Given the description of an element on the screen output the (x, y) to click on. 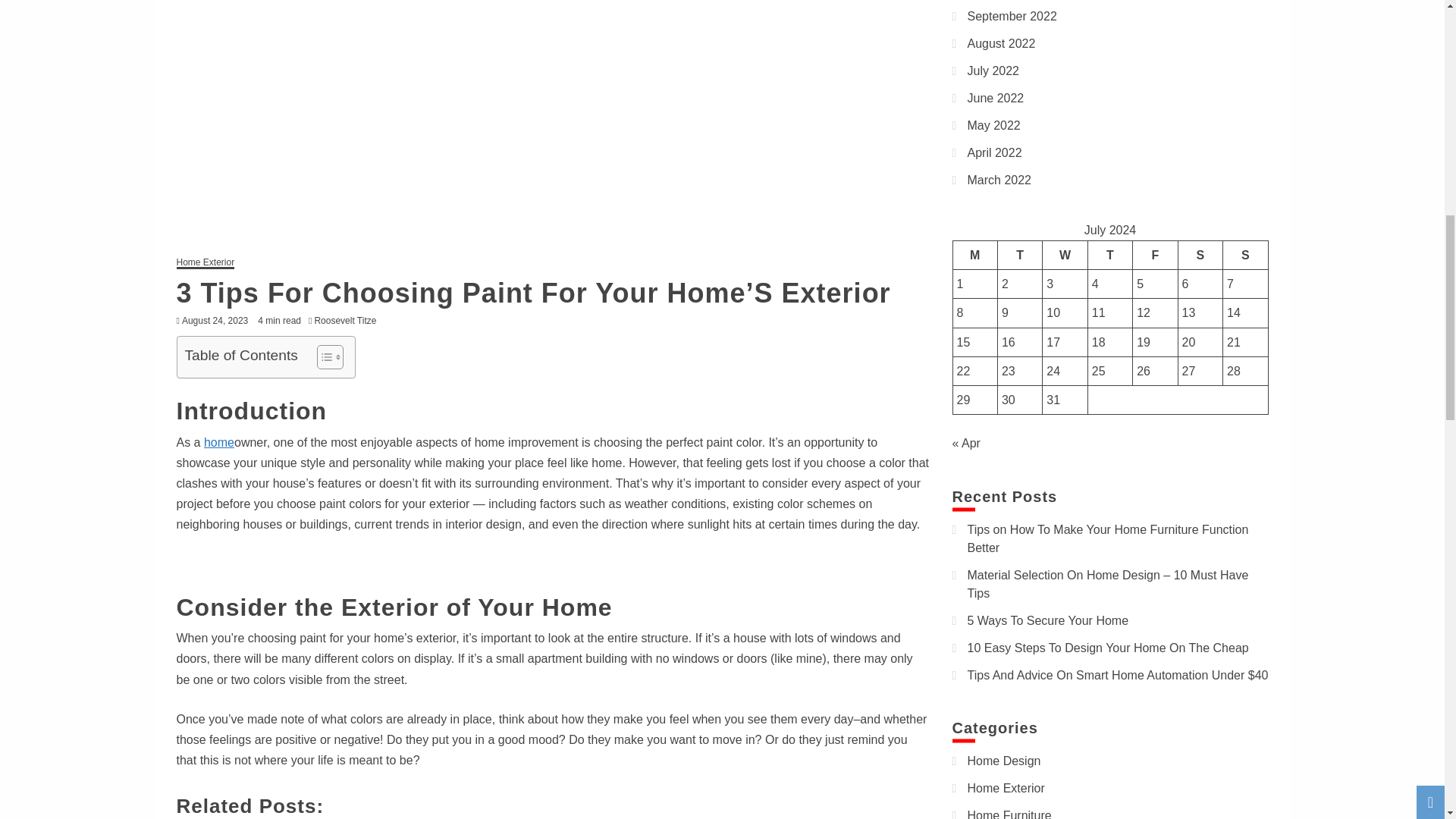
August 24, 2023 (214, 320)
Saturday (1200, 254)
Home Exterior (205, 263)
Wednesday (1064, 254)
Tuesday (1019, 254)
Thursday (1109, 254)
Roosevelt Titze (349, 320)
Monday (974, 254)
home (218, 441)
Friday (1154, 254)
Sunday (1245, 254)
